Given the description of an element on the screen output the (x, y) to click on. 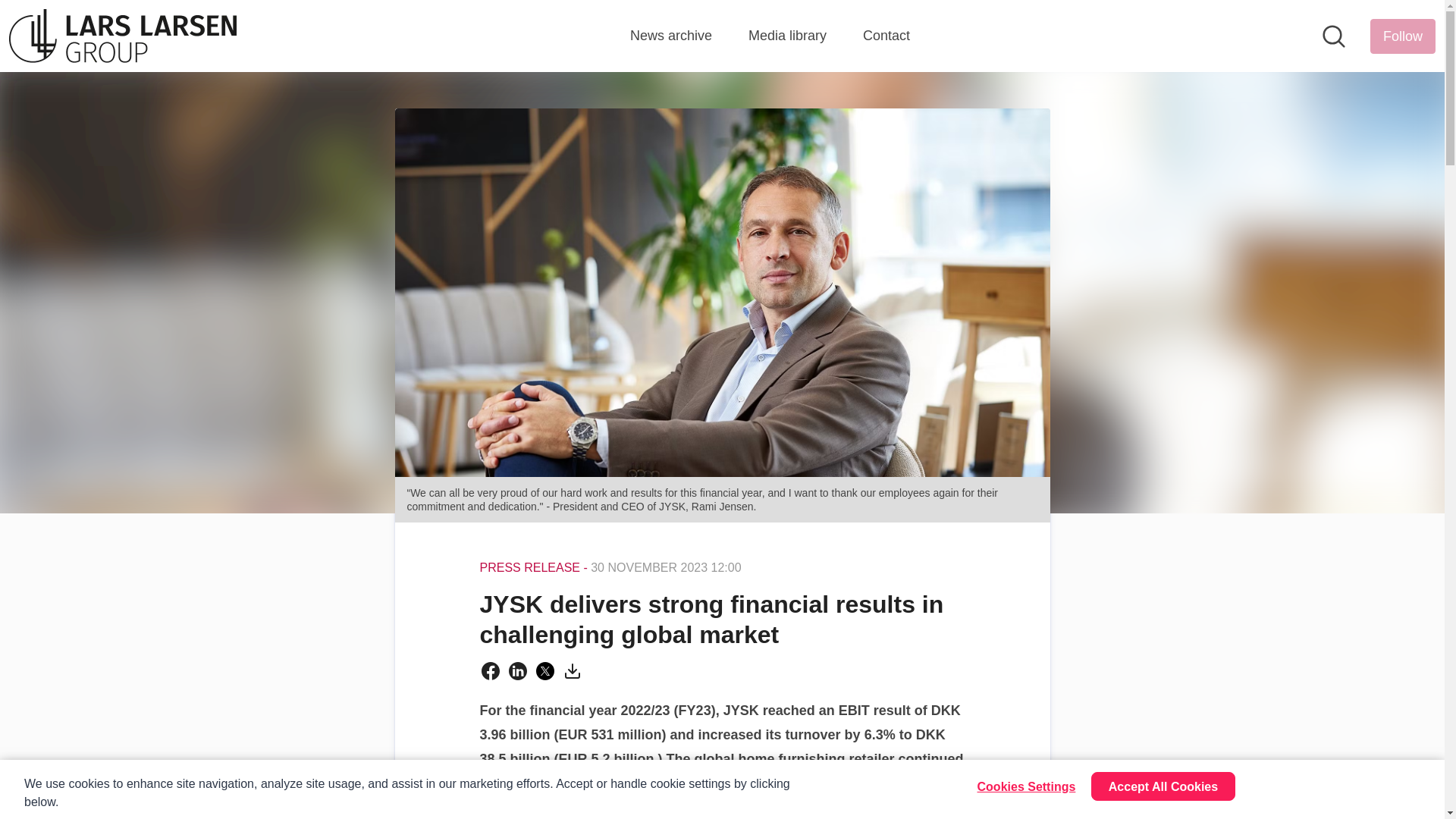
Contact (886, 35)
News archive (670, 35)
Download as PDF (571, 670)
Share on Facebook (489, 670)
Search in newsroom (1333, 36)
Follow (1402, 35)
Media library (787, 35)
Share on Linkedin (516, 670)
Share on Twitter (544, 670)
